Given the description of an element on the screen output the (x, y) to click on. 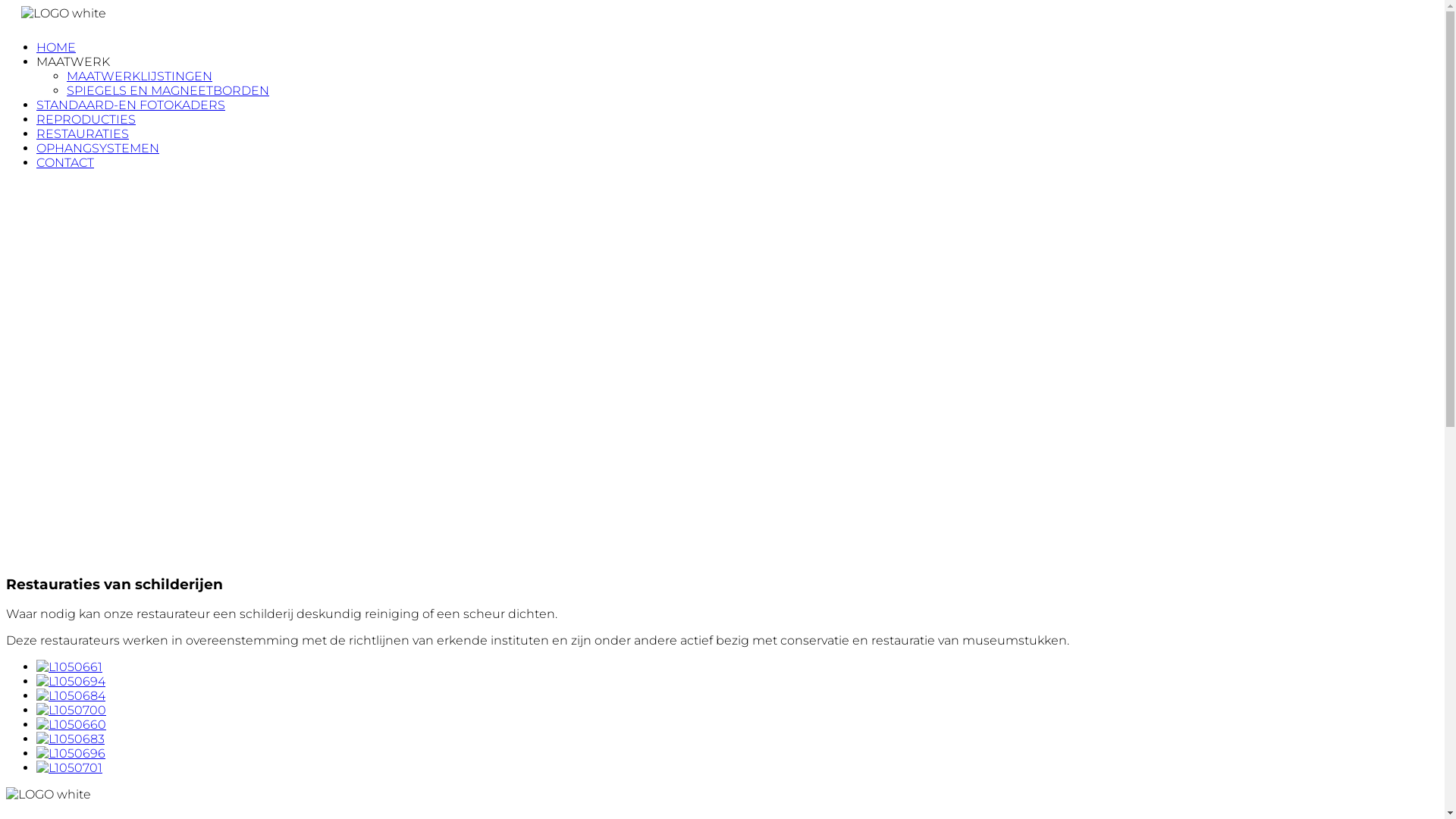
L1050661 Element type: hover (69, 666)
L1050684 Element type: hover (70, 695)
SPIEGELS EN MAGNEETBORDEN Element type: text (167, 90)
CONTACT Element type: text (65, 162)
OPHANGSYSTEMEN Element type: text (97, 148)
STANDAARD-EN FOTOKADERS Element type: text (130, 104)
L1050694 Element type: hover (70, 681)
L1050660 Element type: hover (71, 724)
L1050696 Element type: hover (70, 753)
RESTAURATIES Element type: text (82, 133)
L1050701 Element type: hover (69, 767)
L1050683 Element type: hover (70, 738)
REPRODUCTIES Element type: text (85, 119)
HOME Element type: text (55, 47)
L1050700 Element type: hover (71, 709)
MAATWERKLIJSTINGEN Element type: text (139, 76)
